Given the description of an element on the screen output the (x, y) to click on. 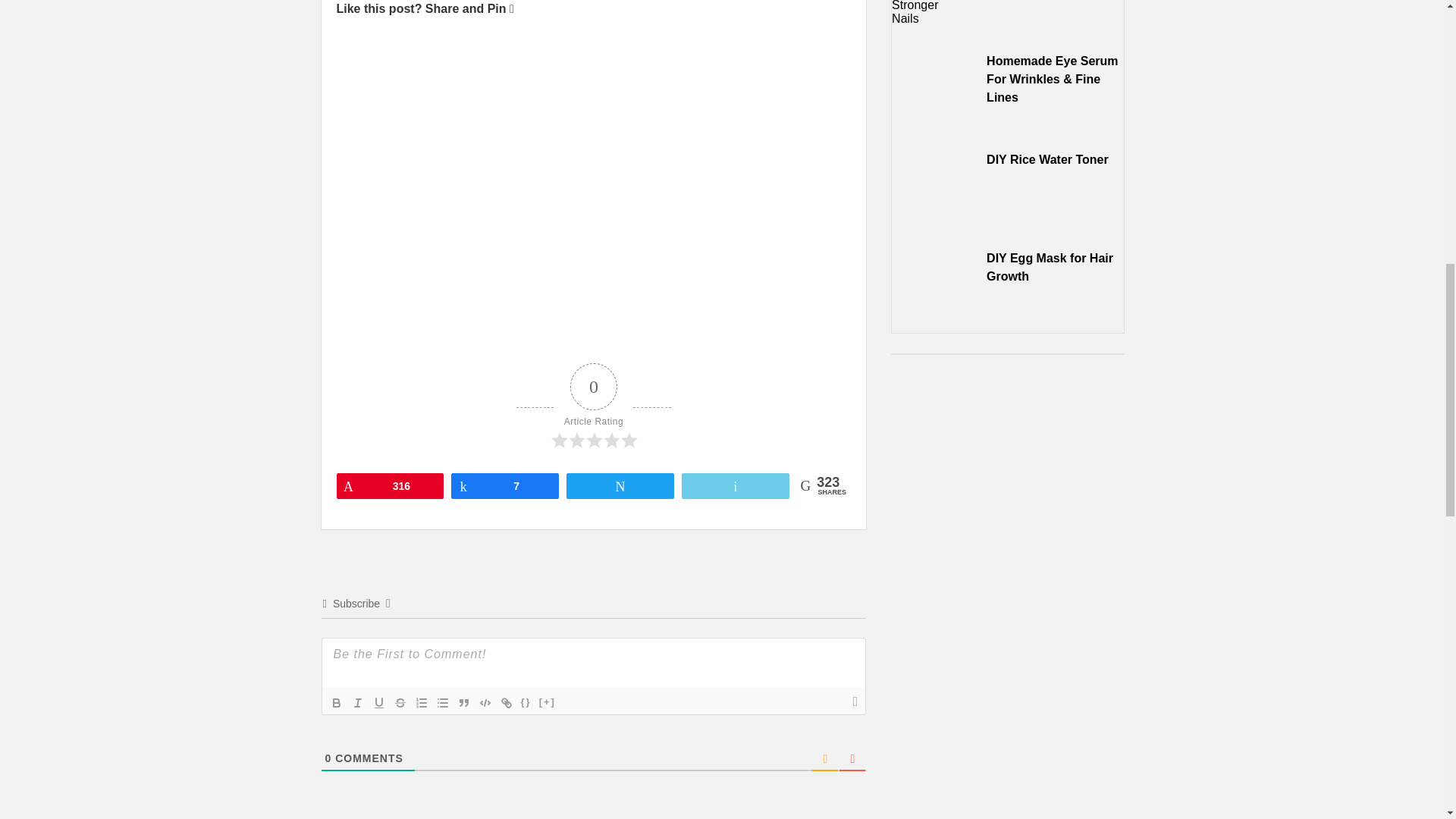
Link (506, 702)
Source Code (525, 702)
Strike (400, 702)
ordered (421, 702)
Ordered List (421, 702)
Unordered List (442, 702)
Code Block (485, 702)
Spoiler (547, 702)
Bold (336, 702)
7 (504, 485)
